Given the description of an element on the screen output the (x, y) to click on. 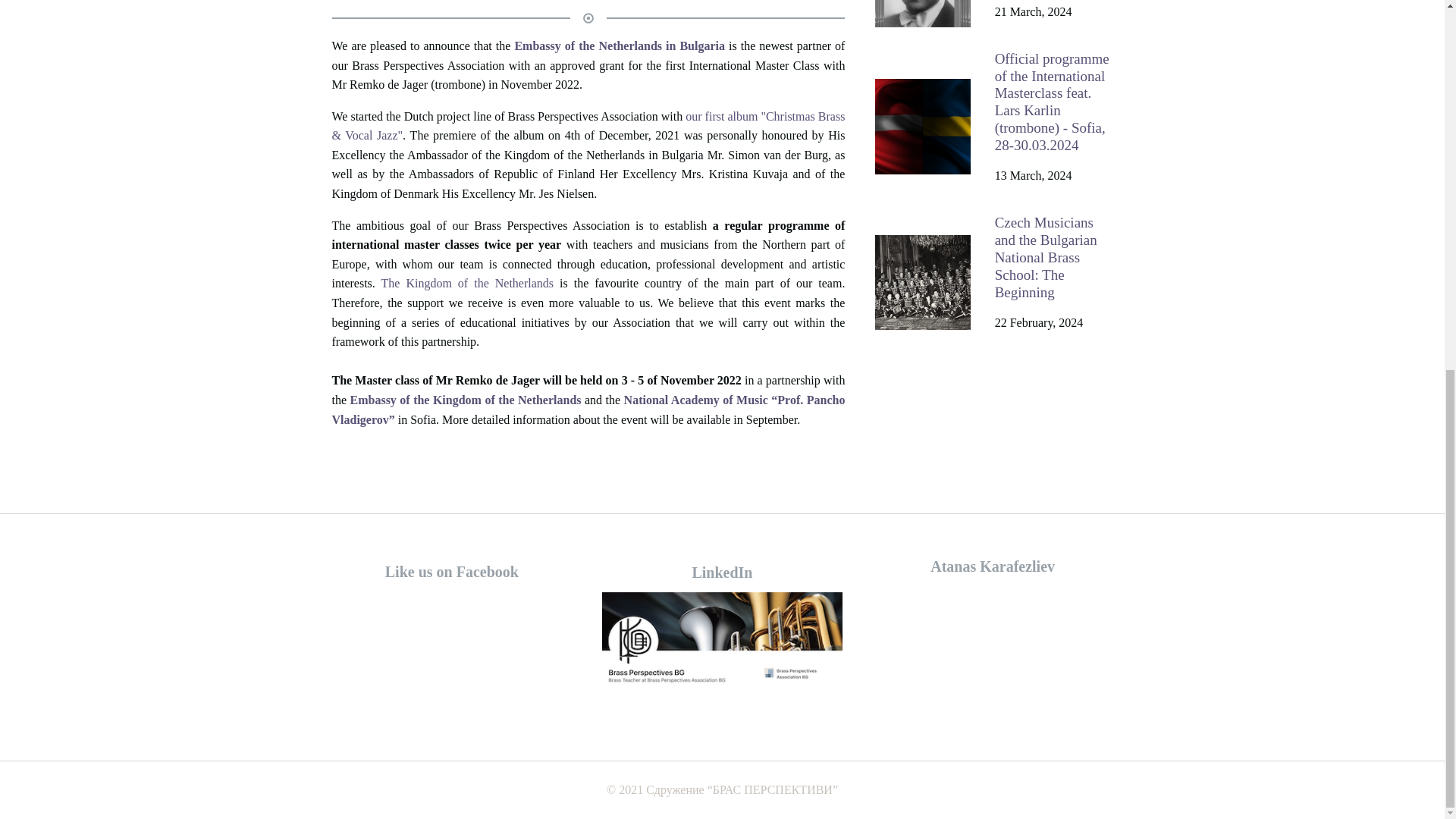
Embassy of the Kingdom of the Netherlands (467, 399)
Embassy of the Netherlands in Bulgaria (621, 45)
The Kingdom of the Netherlands (467, 282)
